Given the description of an element on the screen output the (x, y) to click on. 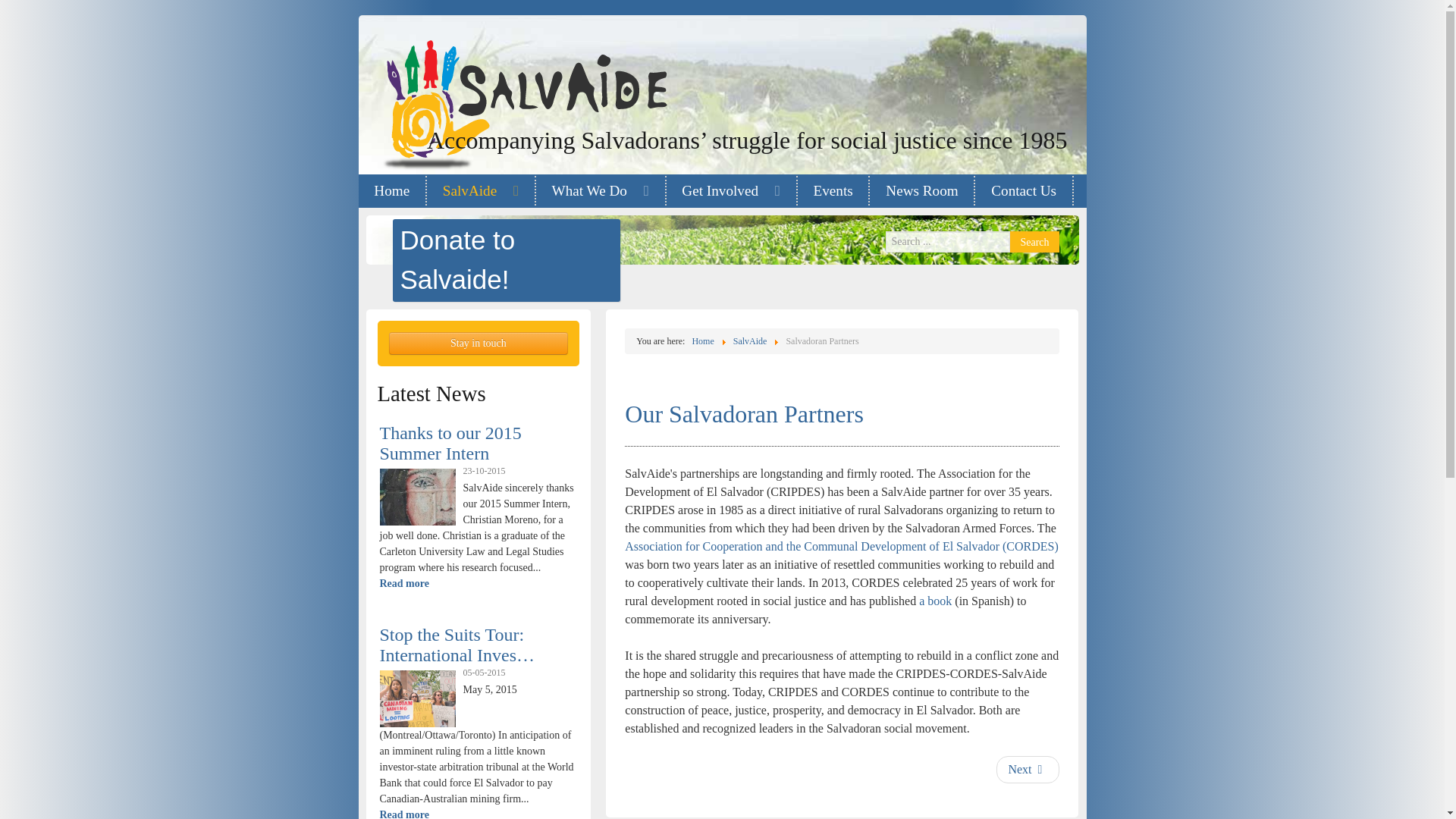
CORDES (841, 545)
News Room (921, 190)
YouTube (1021, 49)
twitter (991, 49)
Home (391, 190)
Thanks to our 2015 Summer Intern (449, 443)
Events (833, 190)
twitter (991, 49)
Donate to Salvaide! (506, 260)
Contact Us (1023, 190)
Get Involved (731, 190)
CORDES book (935, 600)
SalvAide (480, 190)
What We Do (600, 190)
